Given the description of an element on the screen output the (x, y) to click on. 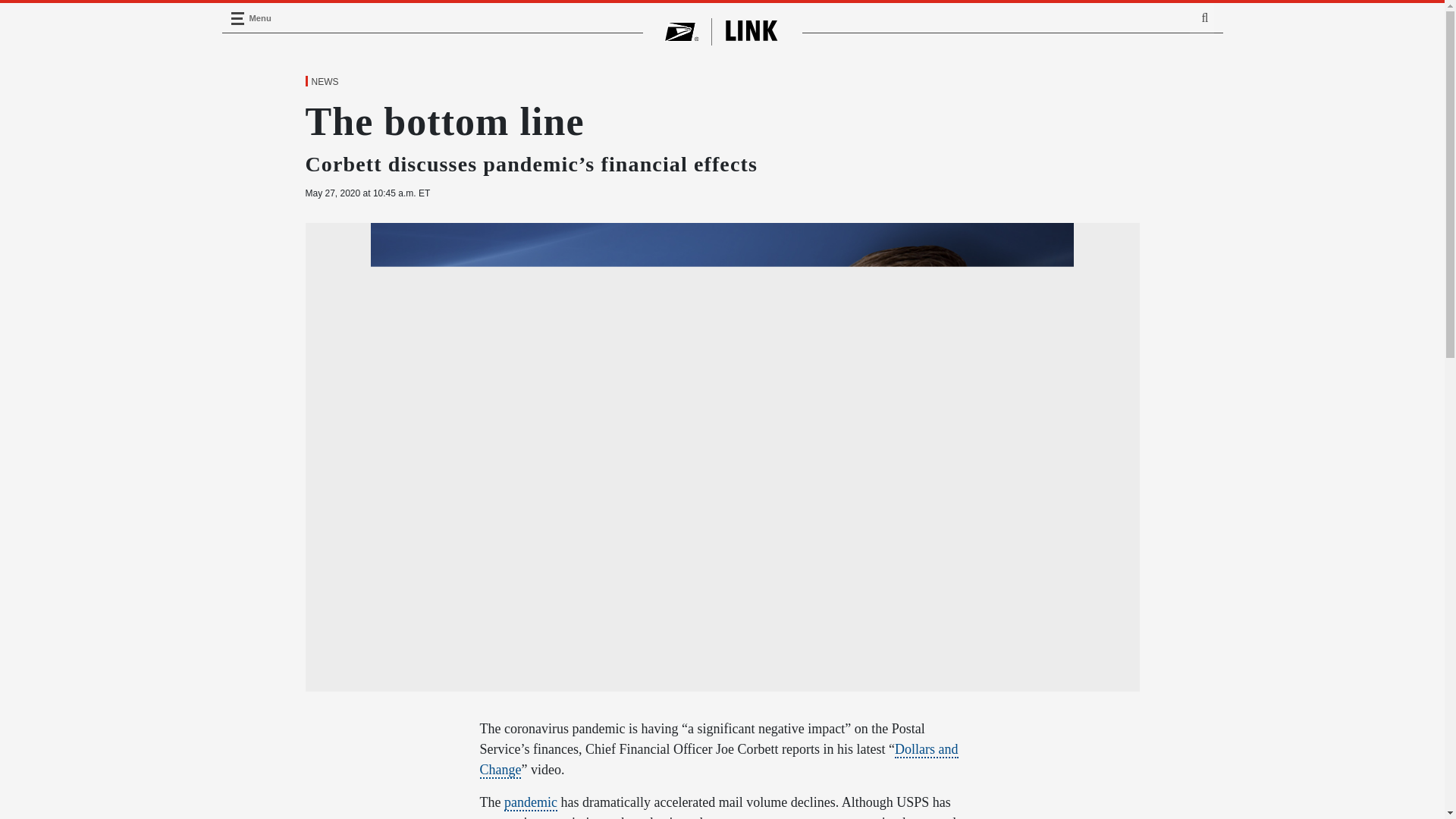
Dollars and Change (718, 760)
pandemic (530, 802)
Menu (237, 18)
NEWS (323, 81)
